Given the description of an element on the screen output the (x, y) to click on. 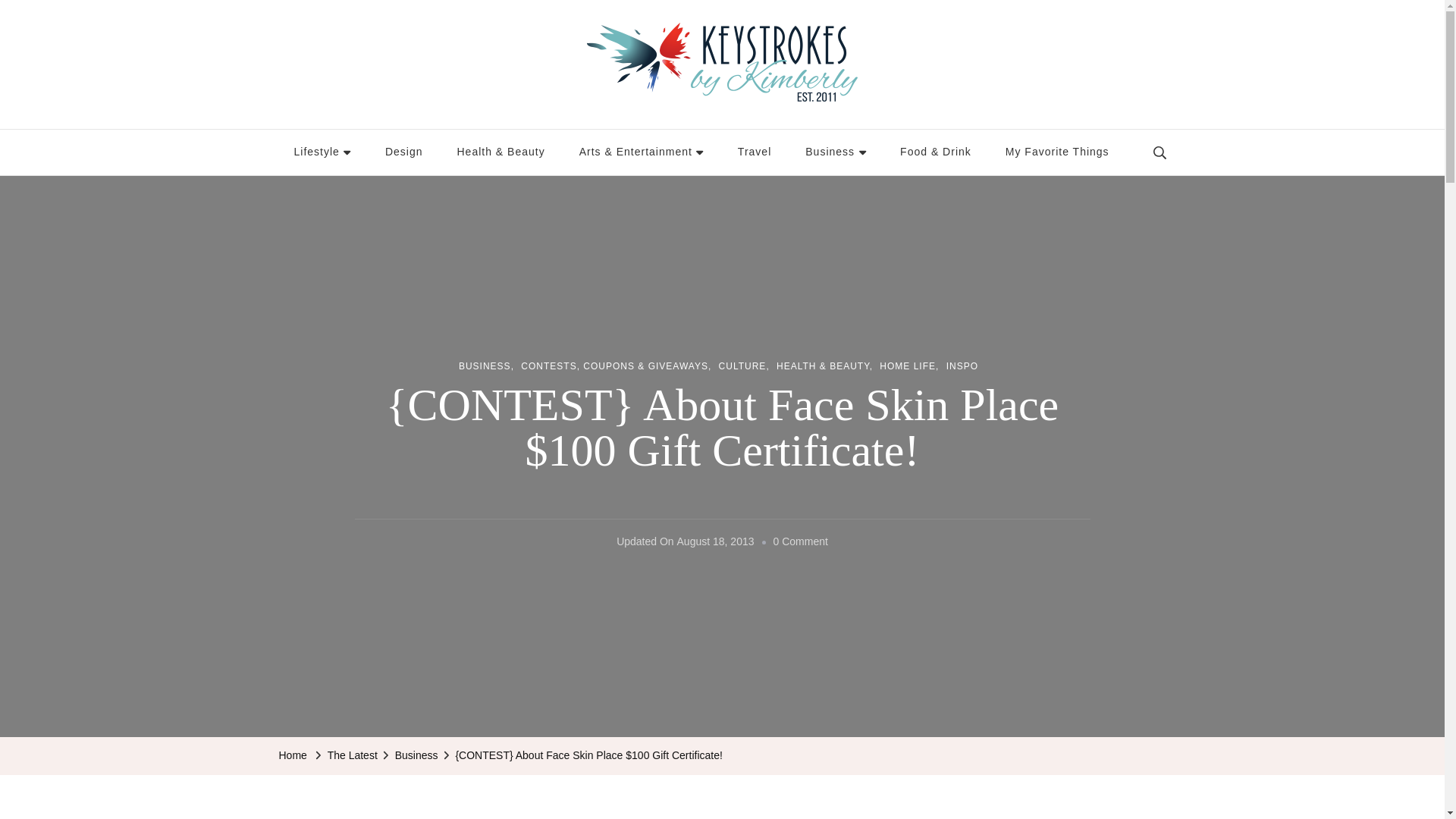
the buzz (835, 152)
ace your space (403, 152)
Business (835, 152)
Travel (754, 152)
Lifestyle (322, 152)
Keystrokes By Kimberly (409, 116)
My Favorite Things (1057, 152)
BUSINESS (485, 366)
wanderlust (754, 152)
joie de vie (322, 152)
CULTURE (744, 366)
inside-outisde (500, 152)
Design (403, 152)
